Given the description of an element on the screen output the (x, y) to click on. 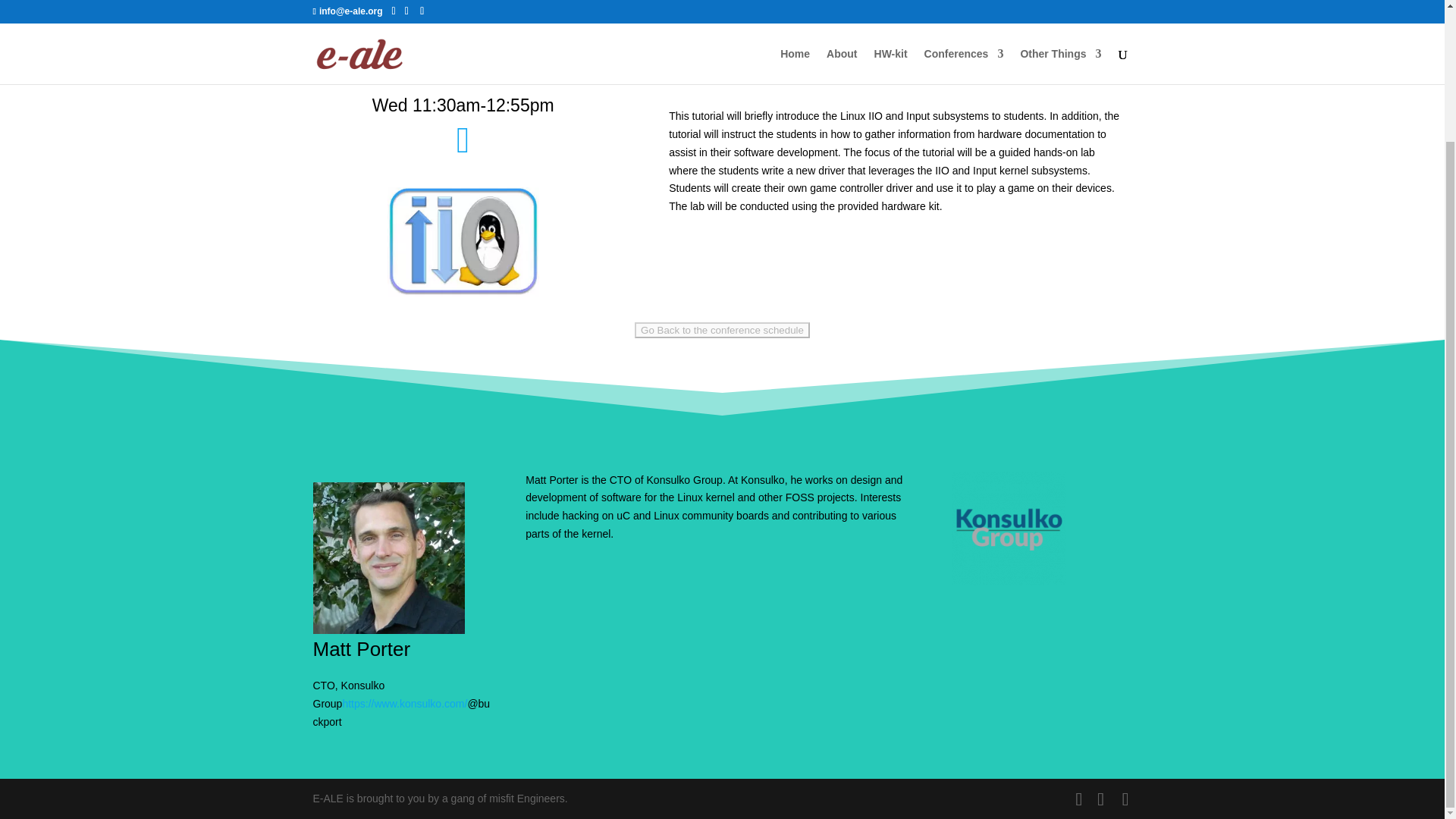
Go Back to the conference schedule (721, 330)
IIO (462, 242)
